Given the description of an element on the screen output the (x, y) to click on. 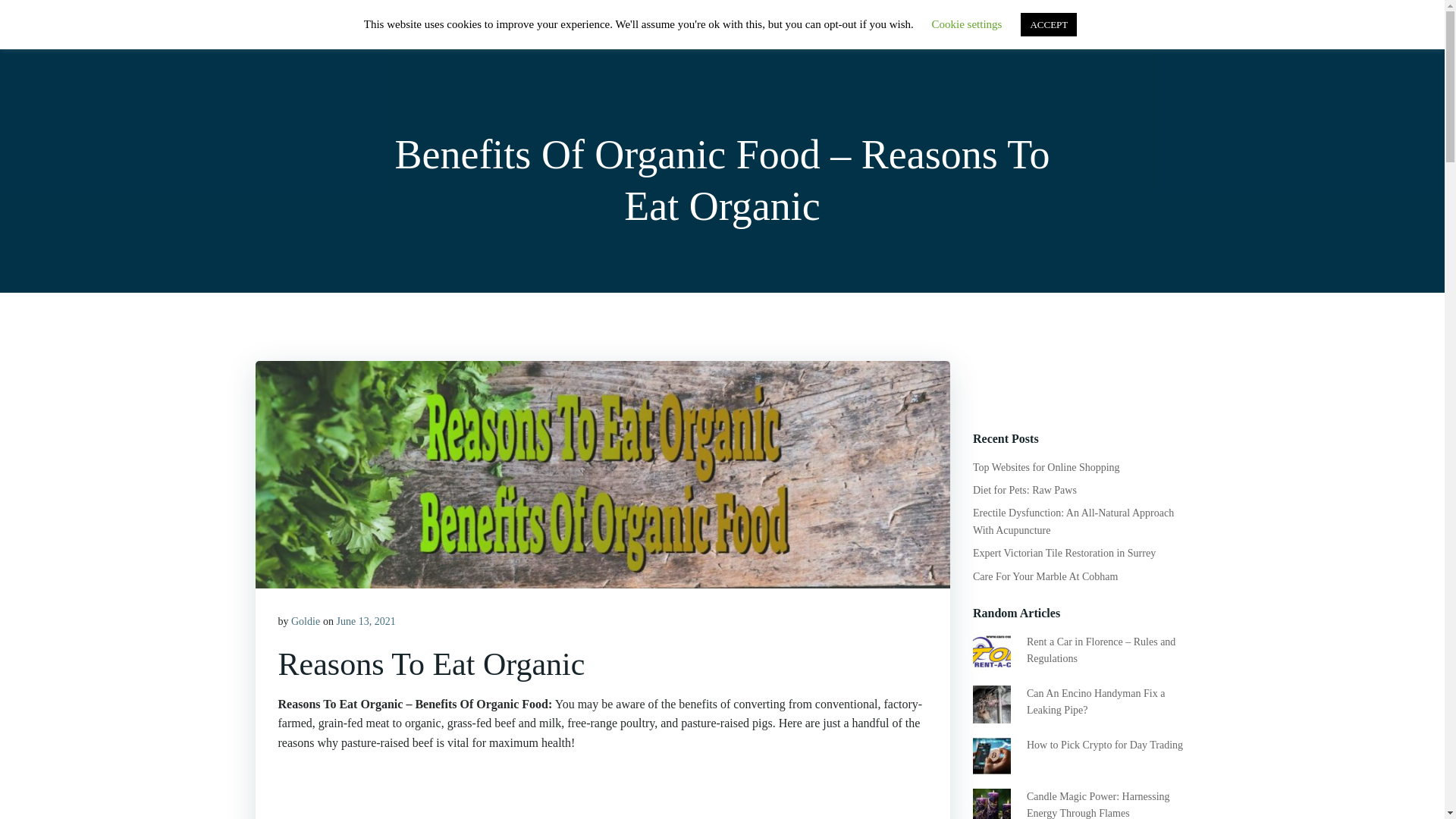
Goldie (305, 621)
LEGAL (1155, 32)
Care For Your Marble At Cobham (1045, 576)
AD4SC (283, 35)
Expert Victorian Tile Restoration in Surrey (1064, 552)
How to Pick Crypto for Day Trading (1104, 745)
Diet for Pets: Raw Paws (1024, 490)
Top Websites for Online Shopping (1045, 467)
Candle Magic Power: Harnessing Energy Through Flames (1098, 805)
Can An Encino Handyman Fix a Leaking Pipe? (1095, 701)
SHOP (942, 30)
HOME (879, 30)
June 13, 2021 (366, 621)
YouTube video player (489, 791)
